Given the description of an element on the screen output the (x, y) to click on. 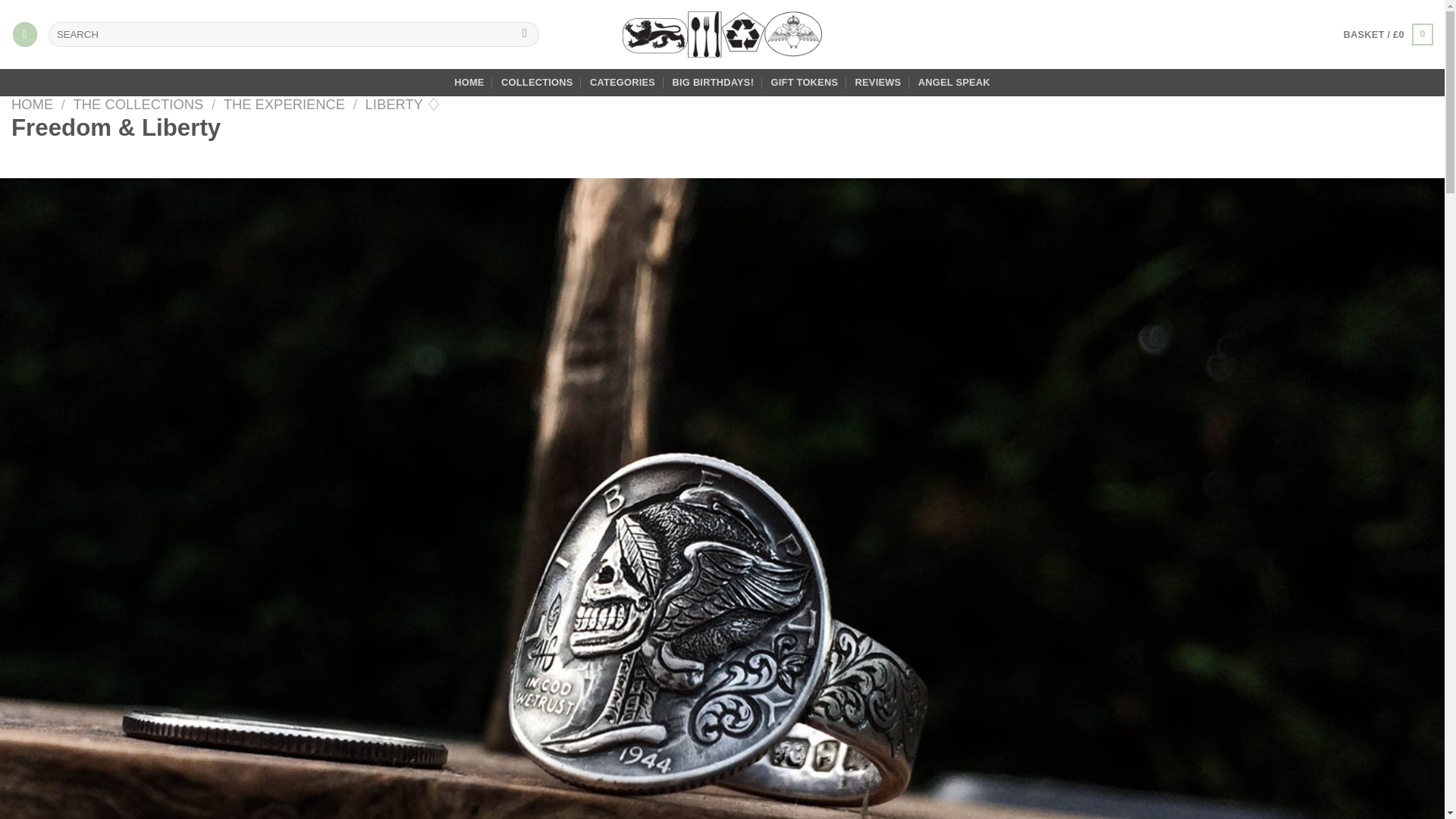
REVIEWS (878, 82)
ANGEL SPEAK (954, 82)
THE COLLECTIONS (138, 104)
HOME (468, 82)
Basket (1388, 34)
BIG BIRTHDAYS! (713, 82)
Search (524, 34)
COLLECTIONS (536, 82)
THE EXPERIENCE (284, 104)
CATEGORIES (622, 82)
HOME (31, 104)
GIFT TOKENS (804, 82)
